Given the description of an element on the screen output the (x, y) to click on. 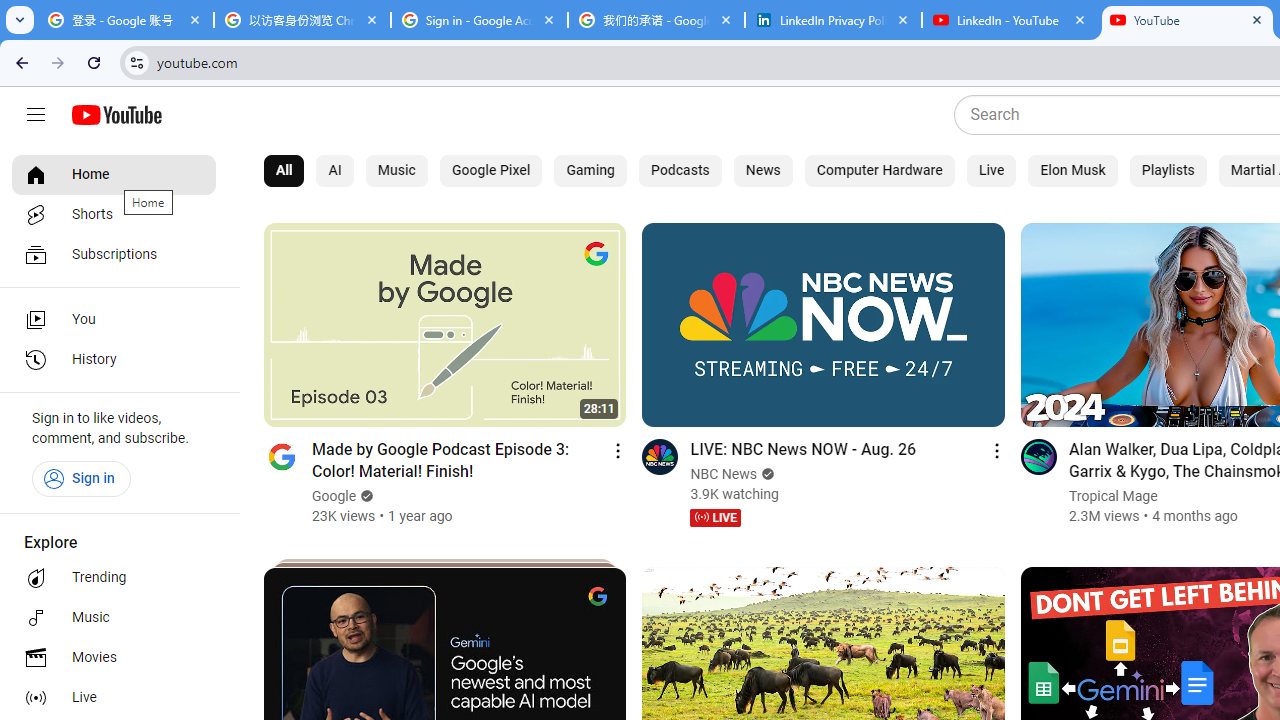
NBC News (724, 474)
Music (395, 170)
Tropical Mage (1112, 496)
LIVE: NBC News NOW - Aug. 26 by NBC News 61,506 views (802, 448)
Elon Musk (1072, 170)
History (113, 359)
Action menu (996, 449)
Subscriptions (113, 254)
Home (113, 174)
YouTube Home (116, 115)
